Given the description of an element on the screen output the (x, y) to click on. 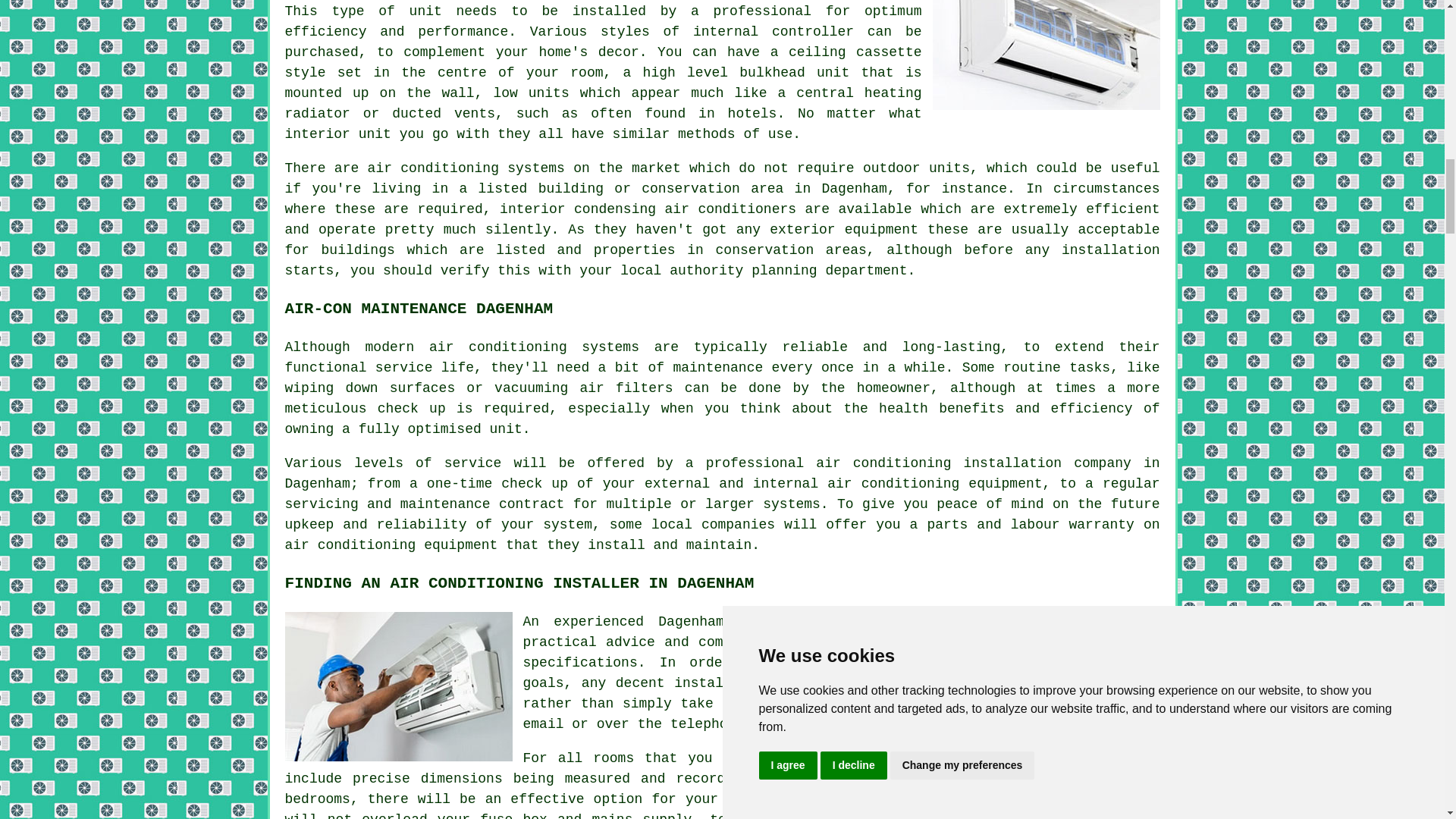
Air Conditioning Near Dagenham Essex (1046, 54)
levels of service (426, 462)
installation (1110, 249)
air conditioned (882, 758)
maintenance (717, 367)
new air conditioning (994, 798)
survey (1126, 683)
air conditioning (807, 621)
